Given the description of an element on the screen output the (x, y) to click on. 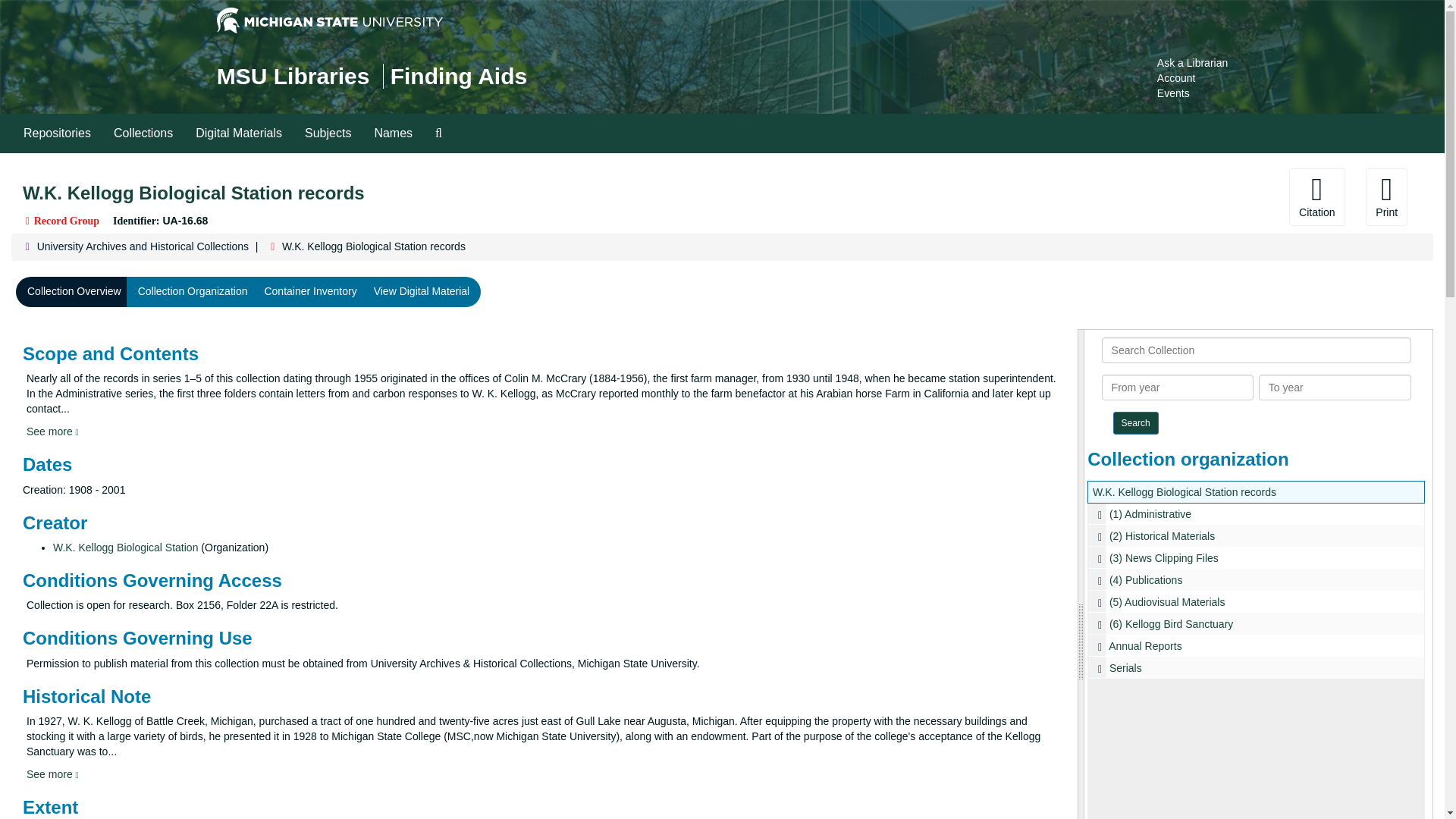
See more (52, 774)
Subjects (328, 133)
Annual Reports (1255, 645)
View Digital Material (421, 291)
Home (292, 75)
Names (392, 133)
Page Actions (1136, 197)
University Archives and Historical Collections (142, 246)
MSU Libraries (292, 75)
W.K. Kellogg Biological Station (125, 547)
